Given the description of an element on the screen output the (x, y) to click on. 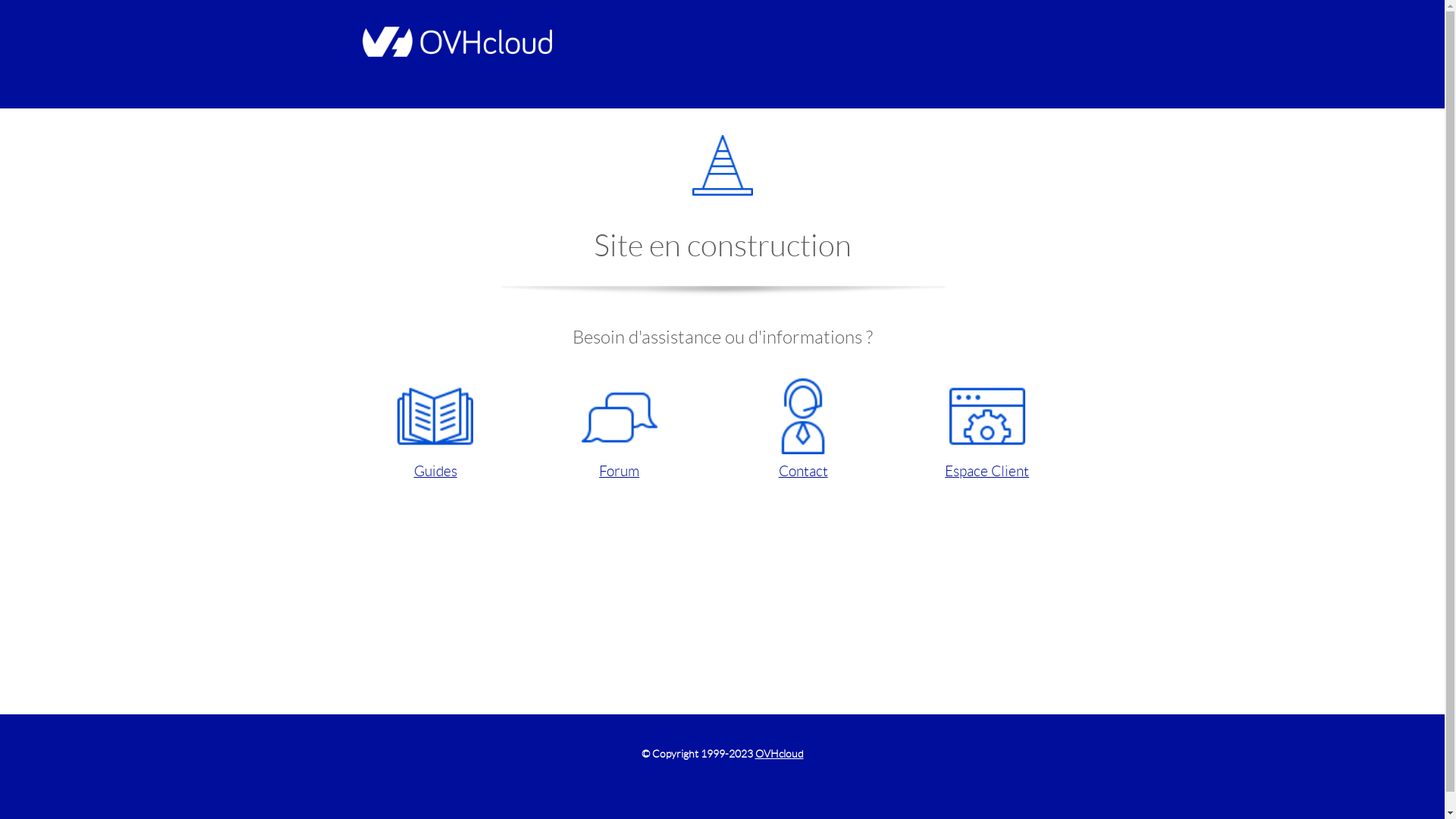
OVHcloud Element type: text (779, 753)
Contact Element type: text (802, 430)
Guides Element type: text (435, 430)
Espace Client Element type: text (986, 430)
Forum Element type: text (618, 430)
